Given the description of an element on the screen output the (x, y) to click on. 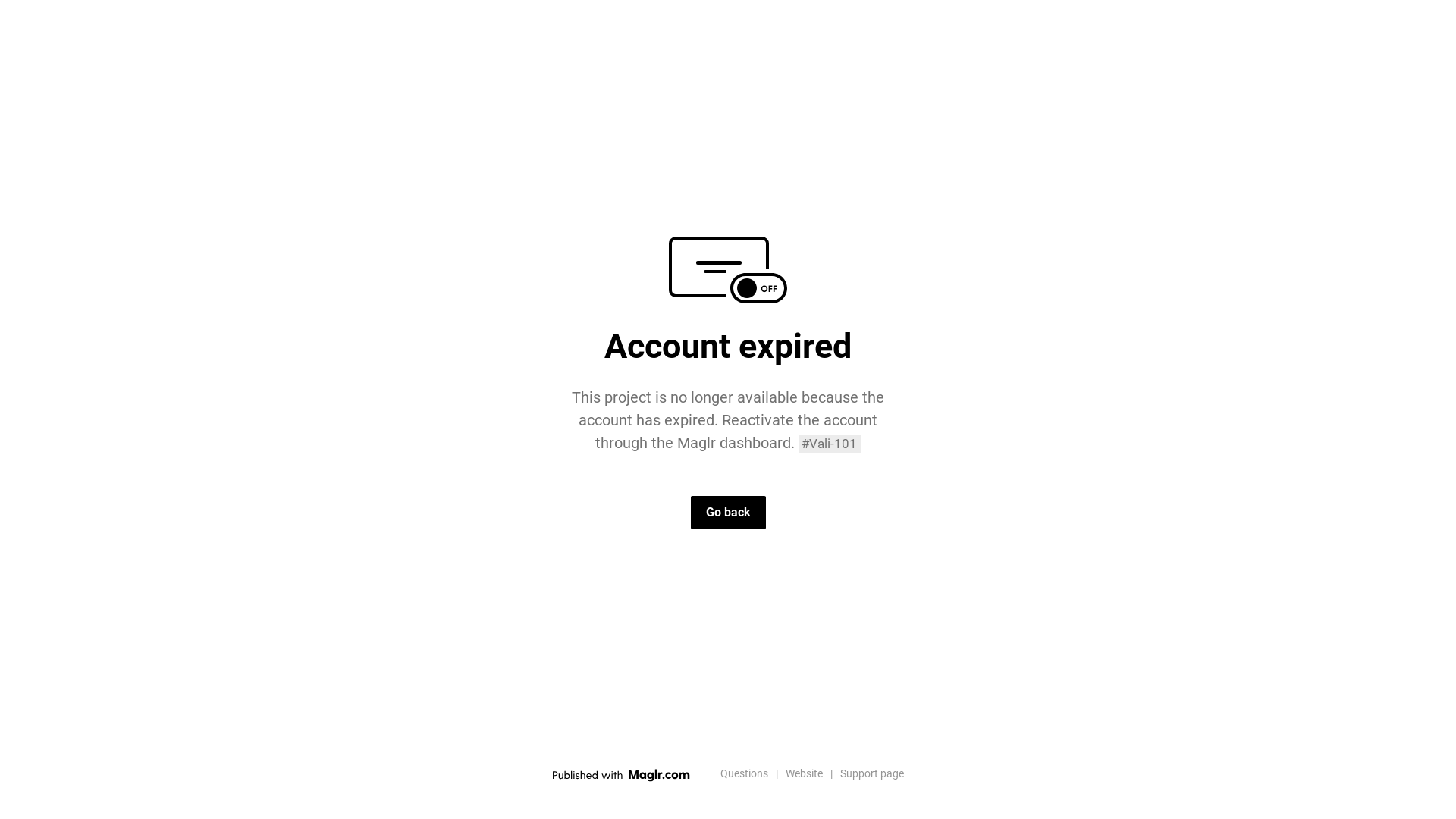
Support page Element type: text (871, 773)
Go back Element type: text (727, 512)
Website Element type: text (803, 773)
Questions Element type: text (744, 773)
#Vali-101 Element type: text (828, 443)
